Given the description of an element on the screen output the (x, y) to click on. 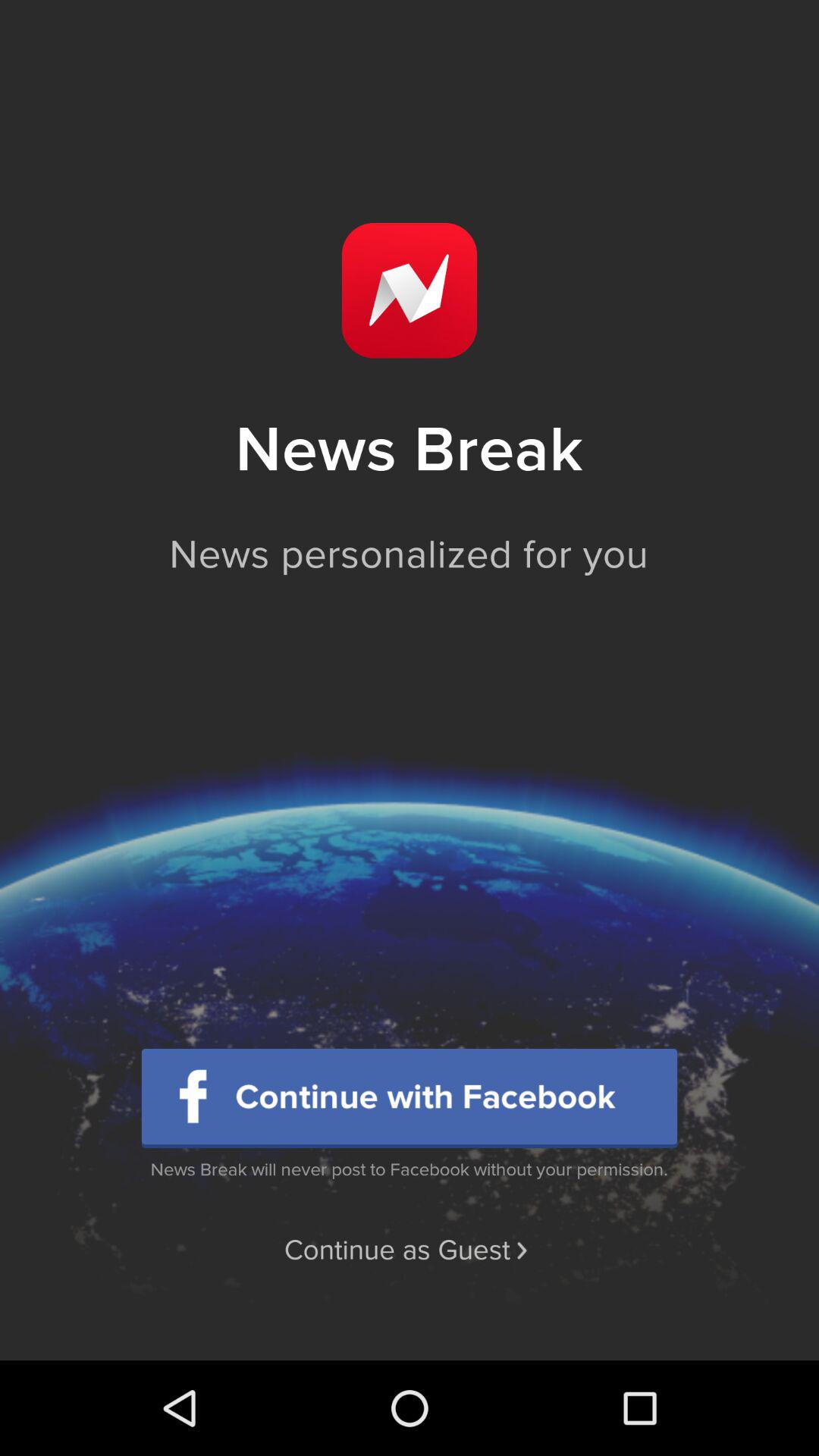
choose item below news break will item (409, 1250)
